Given the description of an element on the screen output the (x, y) to click on. 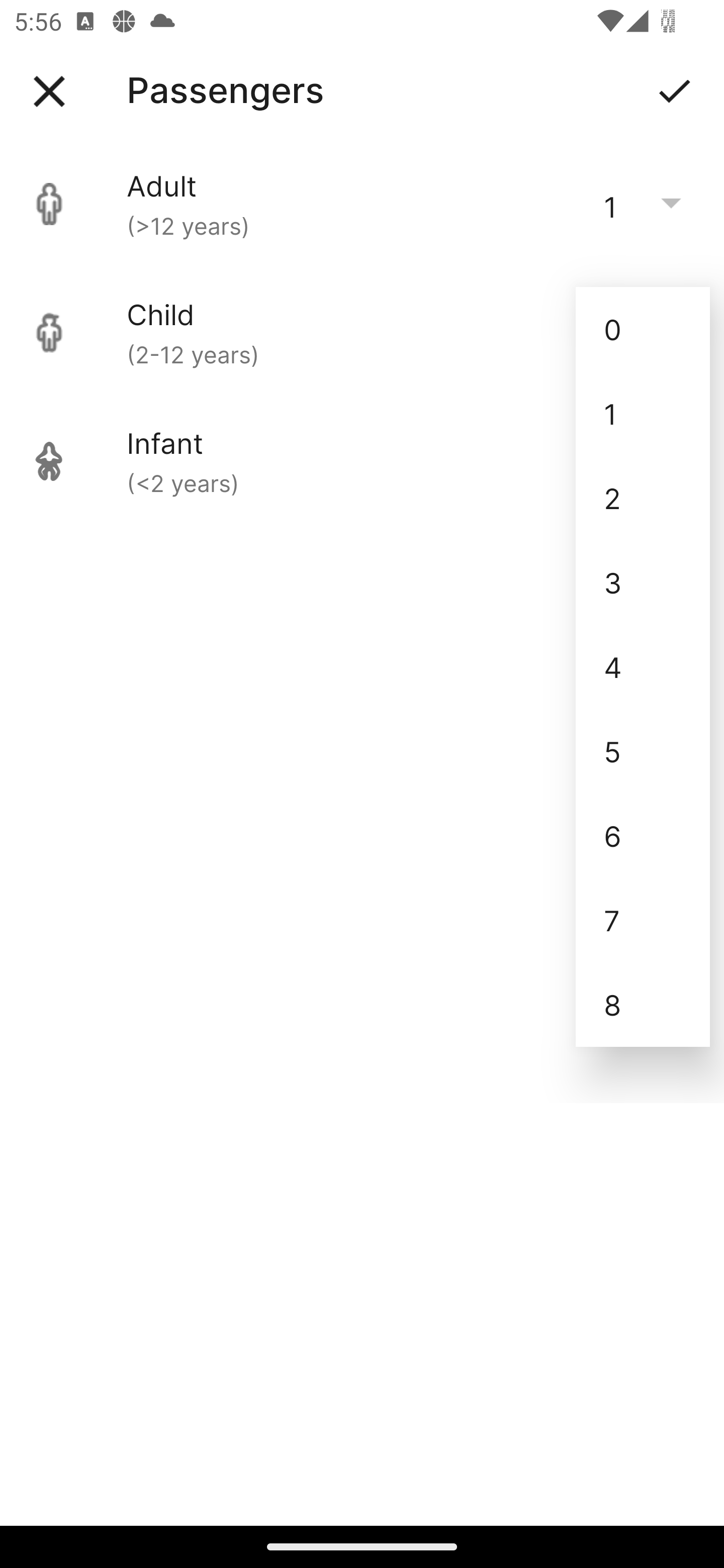
0 (642, 328)
1 (642, 413)
2 (642, 498)
3 (642, 582)
4 (642, 666)
5 (642, 750)
6 (642, 835)
7 (642, 920)
8 (642, 1004)
